Given the description of an element on the screen output the (x, y) to click on. 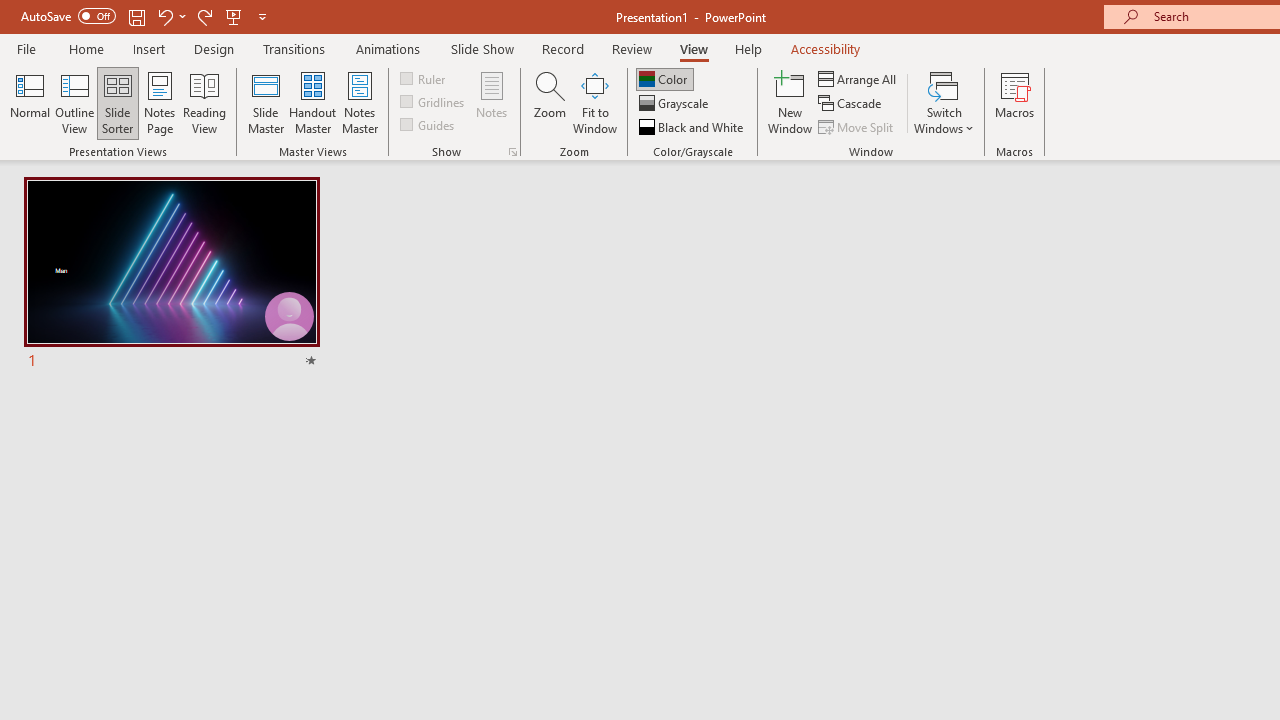
Black and White (693, 126)
Outline View (74, 102)
Move Split (857, 126)
Notes Page (159, 102)
Gridlines (433, 101)
